Given the description of an element on the screen output the (x, y) to click on. 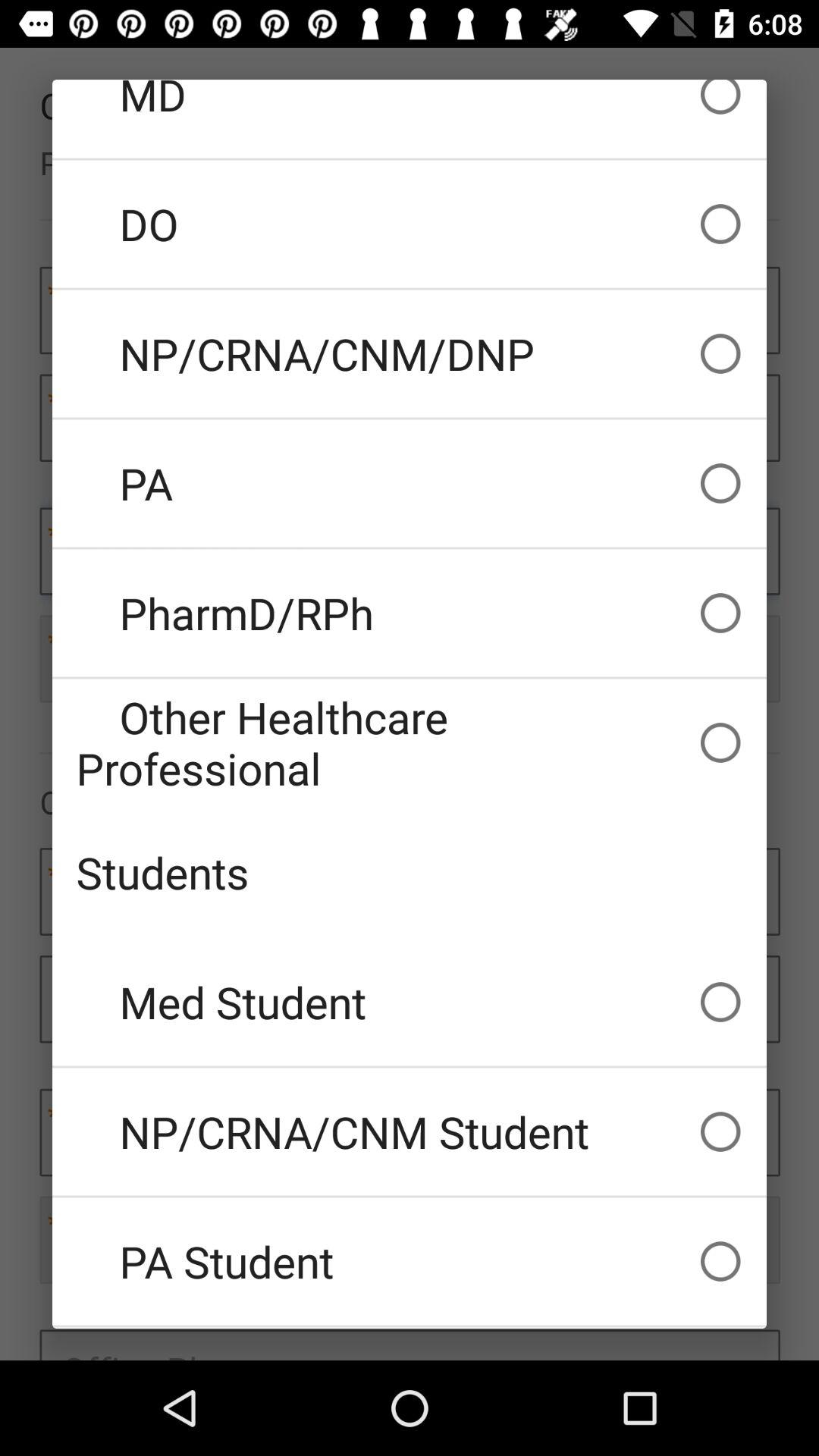
flip until pharmacy student (409, 1327)
